Given the description of an element on the screen output the (x, y) to click on. 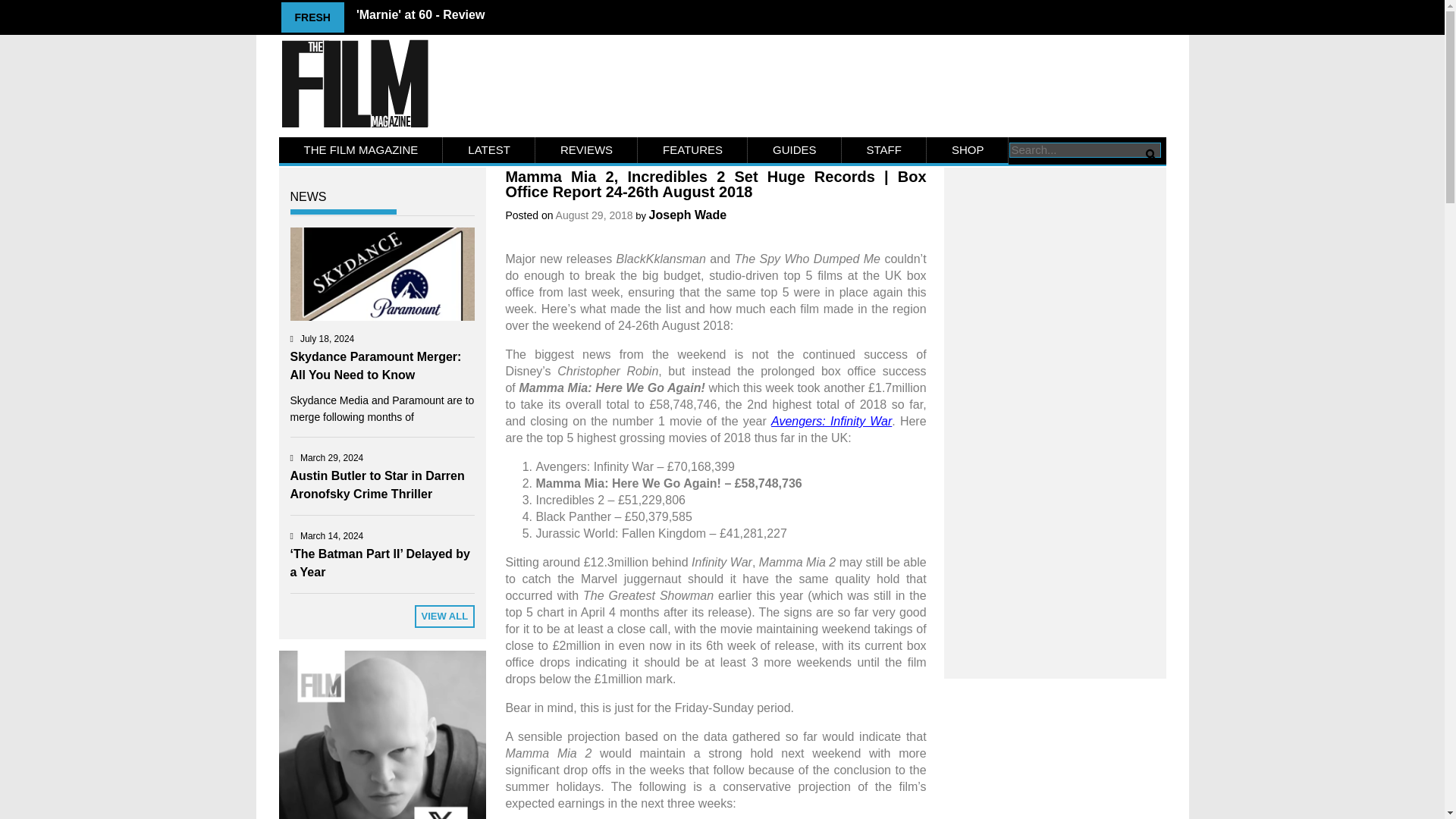
FEATURES (692, 149)
'Marnie' at 60 - Review (420, 14)
THE FILM MAGAZINE (361, 149)
STAFF (883, 149)
'Marnie' at 60 - Review (420, 14)
REVIEWS (586, 149)
LATEST (488, 149)
SHOP (967, 149)
GUIDES (794, 149)
